Given the description of an element on the screen output the (x, y) to click on. 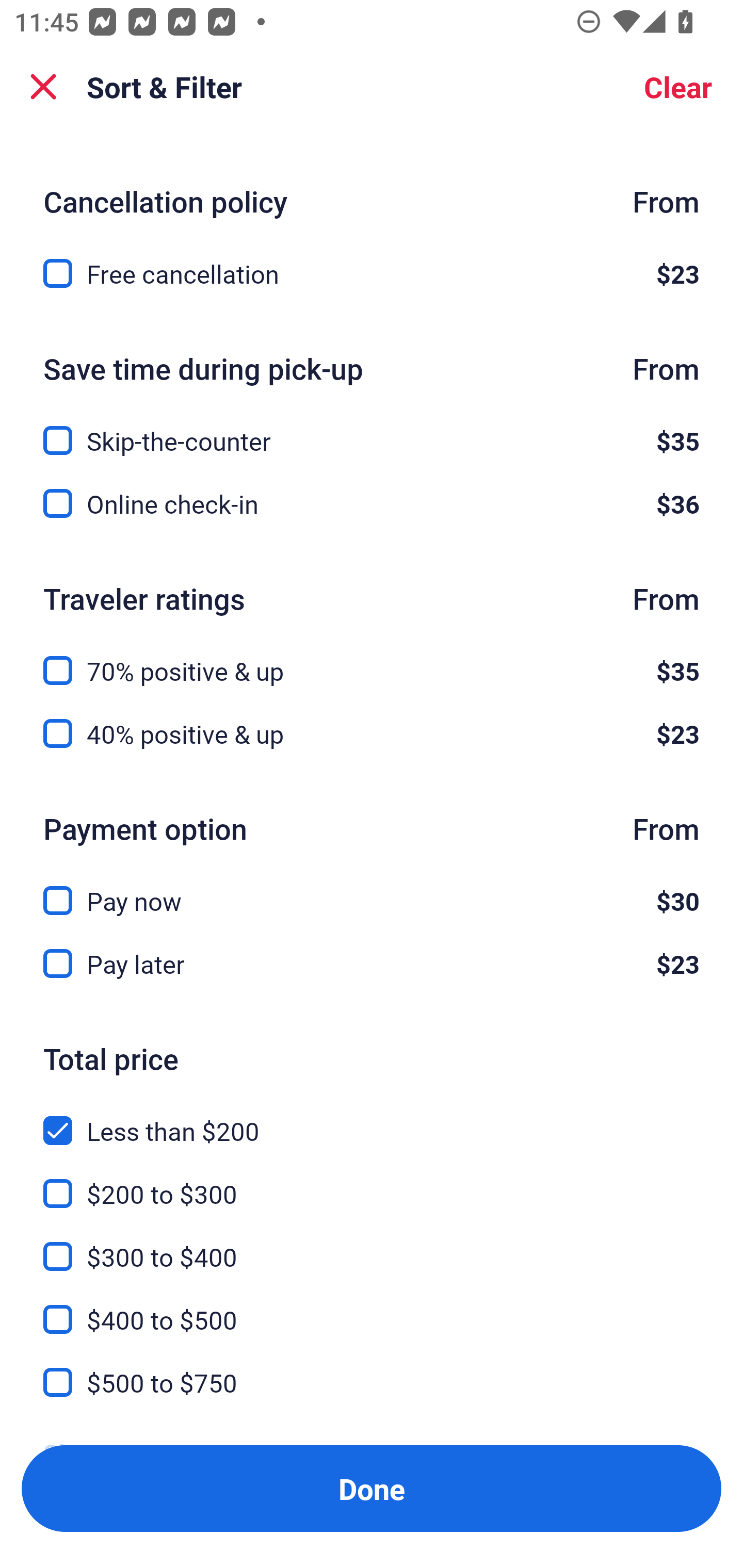
Close Sort and Filter (43, 86)
Clear (677, 86)
Free cancellation, $23 Free cancellation $23 (371, 273)
Skip-the-counter, $35 Skip-the-counter $35 (371, 429)
Online check-in, $36 Online check-in $36 (371, 503)
70% positive & up, $35 70% positive & up $35 (371, 658)
40% positive & up, $23 40% positive & up $23 (371, 733)
Pay now, $30 Pay now $30 (371, 888)
Pay later, $23 Pay later $23 (371, 963)
Less than $200, Less than $200 (371, 1119)
$200 to $300, $200 to $300 (371, 1181)
$300 to $400, $300 to $400 (371, 1244)
$400 to $500, $400 to $500 (371, 1307)
$500 to $750, $500 to $750 (371, 1382)
Apply and close Sort and Filter Done (371, 1488)
